Given the description of an element on the screen output the (x, y) to click on. 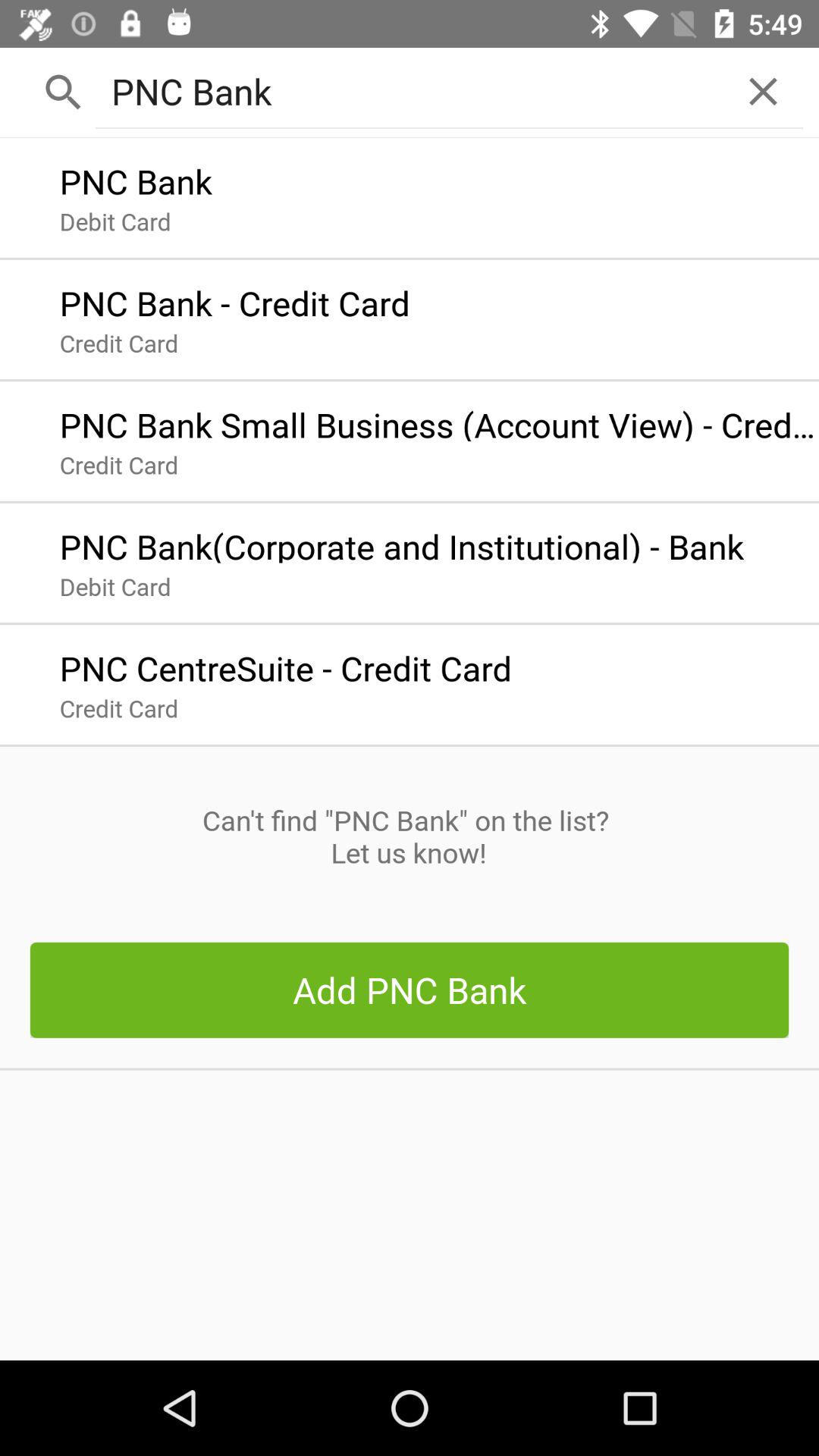
scroll until pnc centresuite credit app (285, 664)
